Given the description of an element on the screen output the (x, y) to click on. 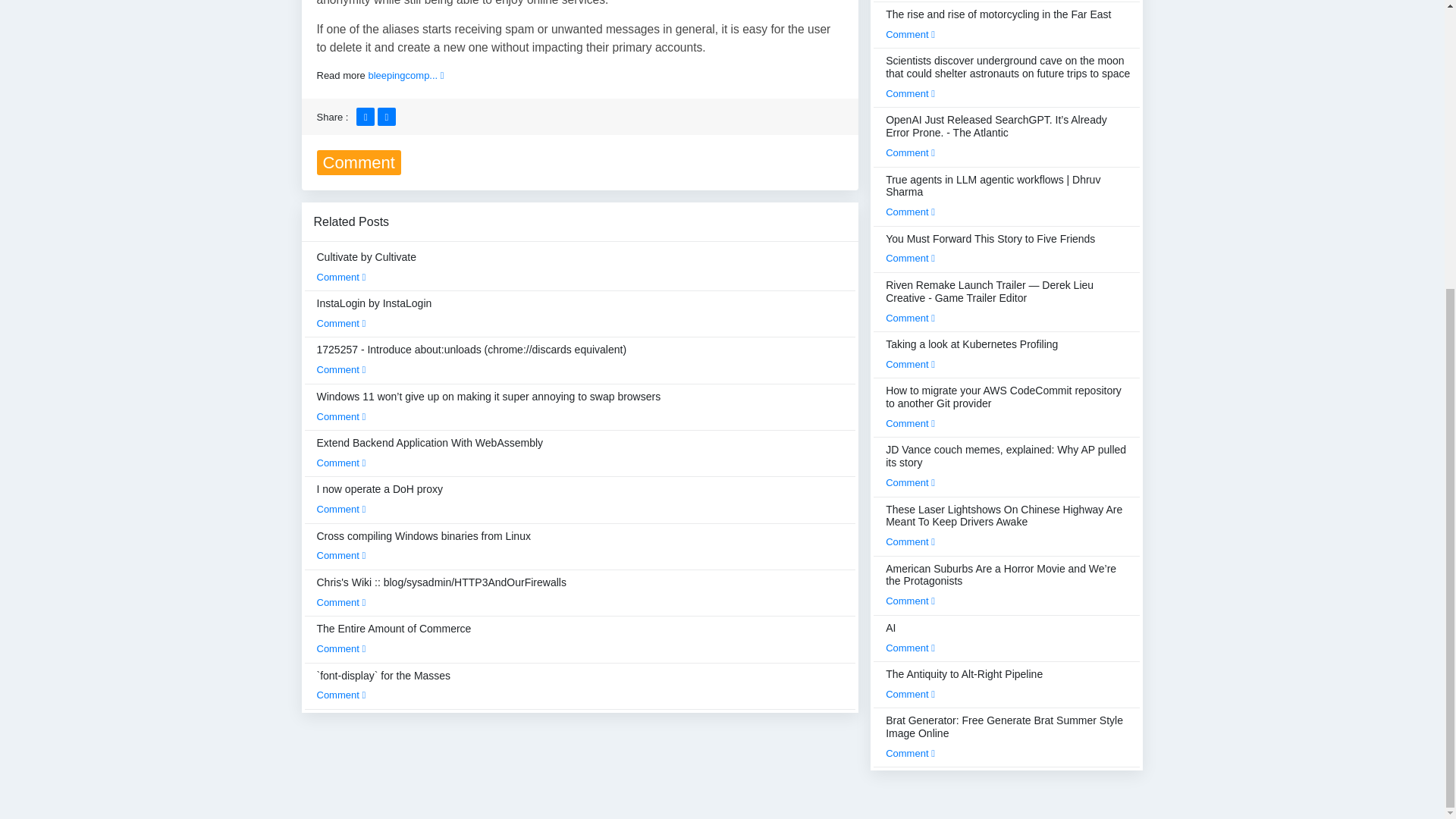
I now operate a DoH proxy (380, 499)
Comment (341, 462)
Comment (341, 602)
Cross compiling Windows binaries from Linux (424, 545)
The Entire Amount of Commerce (394, 638)
bleepingcomp... (406, 75)
Comment (341, 276)
Comment (341, 369)
Comment (341, 323)
Comment (341, 509)
Cultivate by Cultivate (366, 266)
Comment (341, 555)
Comment (341, 416)
InstaLogin by InstaLogin (374, 313)
Extend Backend Application With WebAssembly (430, 452)
